Given the description of an element on the screen output the (x, y) to click on. 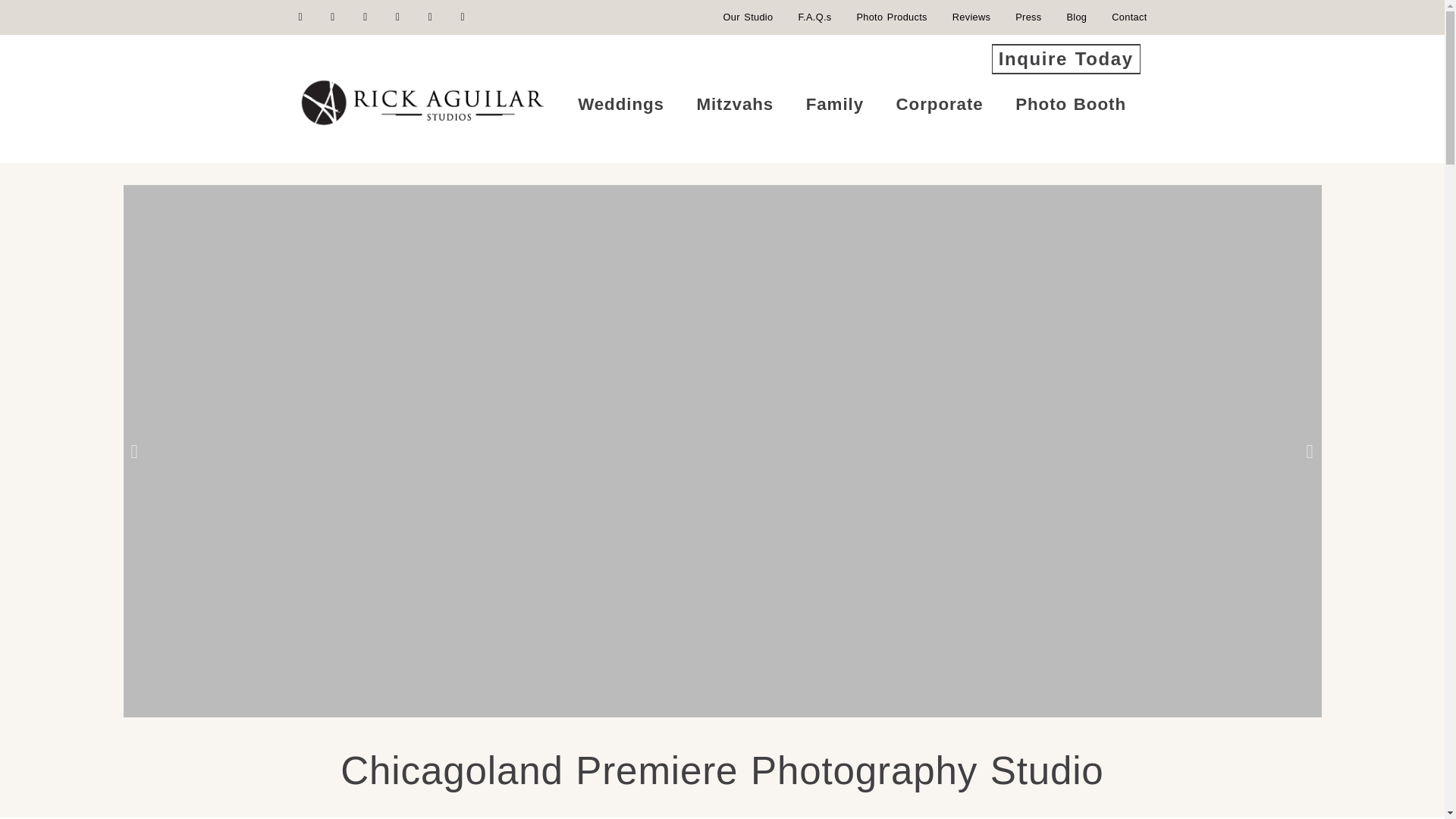
Corporate (938, 104)
Family (834, 104)
Photo Products (891, 17)
Reviews (971, 17)
Weddings (620, 104)
Mitzvahs (734, 104)
Our Studio (748, 17)
Photo Booth (1069, 104)
Contact (1129, 17)
Blog (1075, 17)
